Given the description of an element on the screen output the (x, y) to click on. 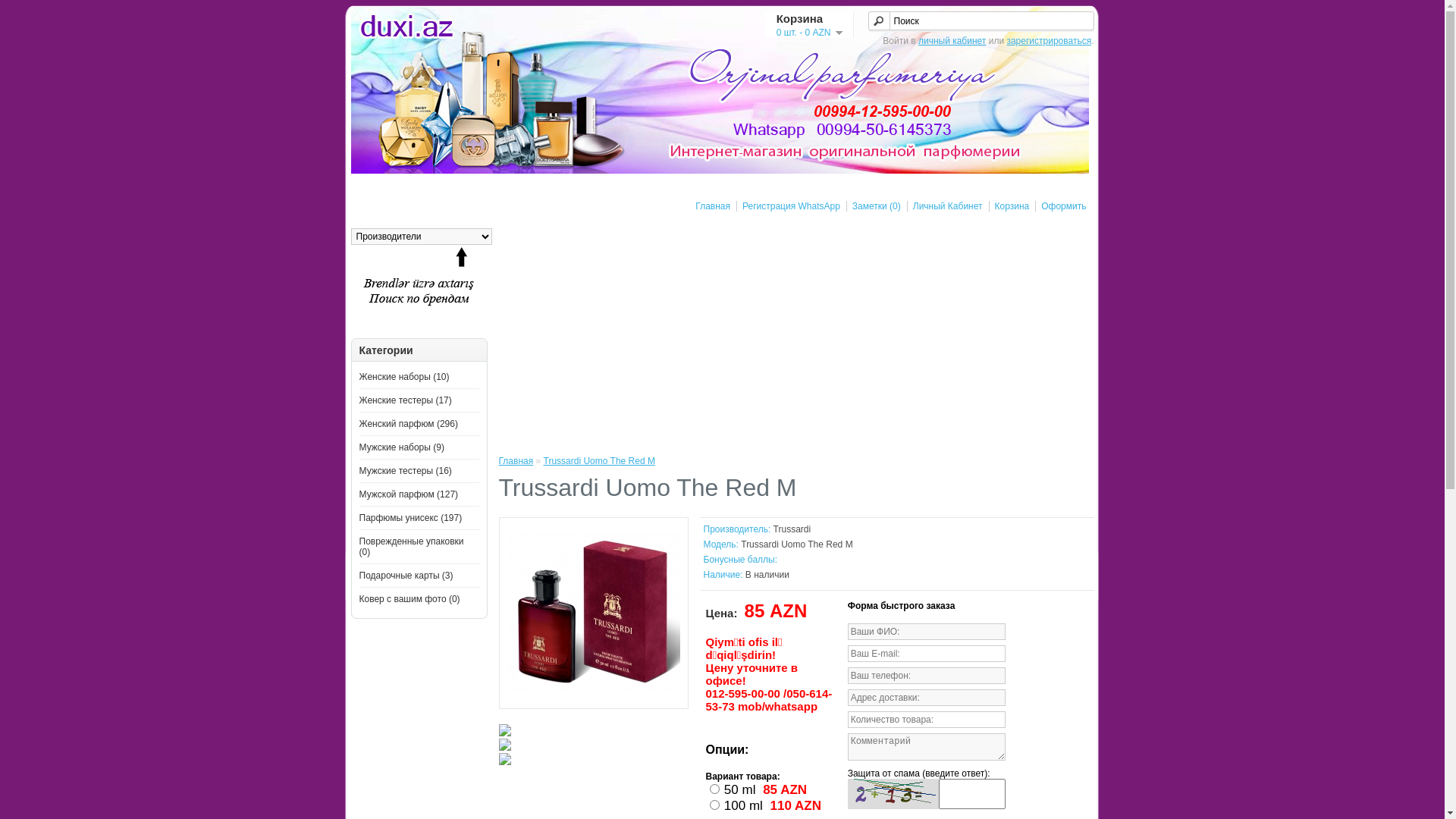
Advertisement Element type: hover (796, 334)
Trussardi Uomo The Red M Element type: hover (592, 695)
Trussardi Uomo The Red M Element type: hover (592, 611)
Trussardi Element type: text (792, 529)
Trussardi Uomo The Red M Element type: text (599, 460)
epilyasiya Element type: hover (418, 282)
